Given the description of an element on the screen output the (x, y) to click on. 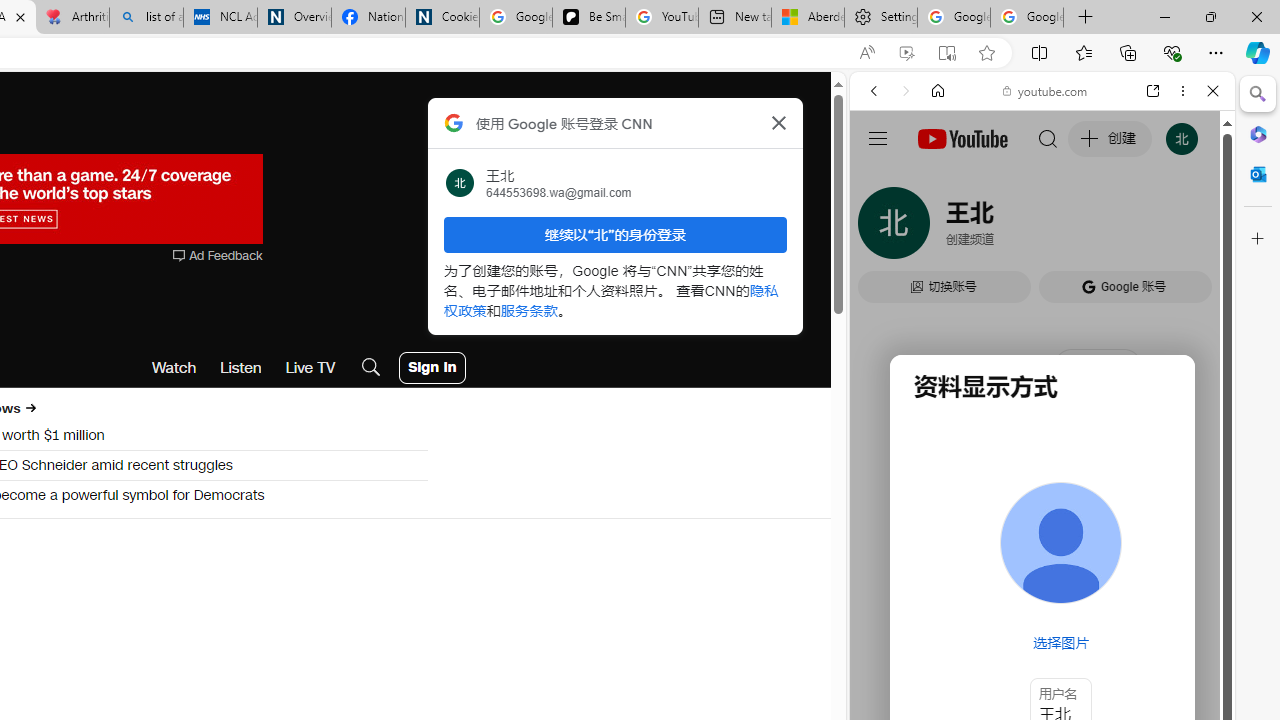
Search videos from youtube.com (1005, 657)
